Given the description of an element on the screen output the (x, y) to click on. 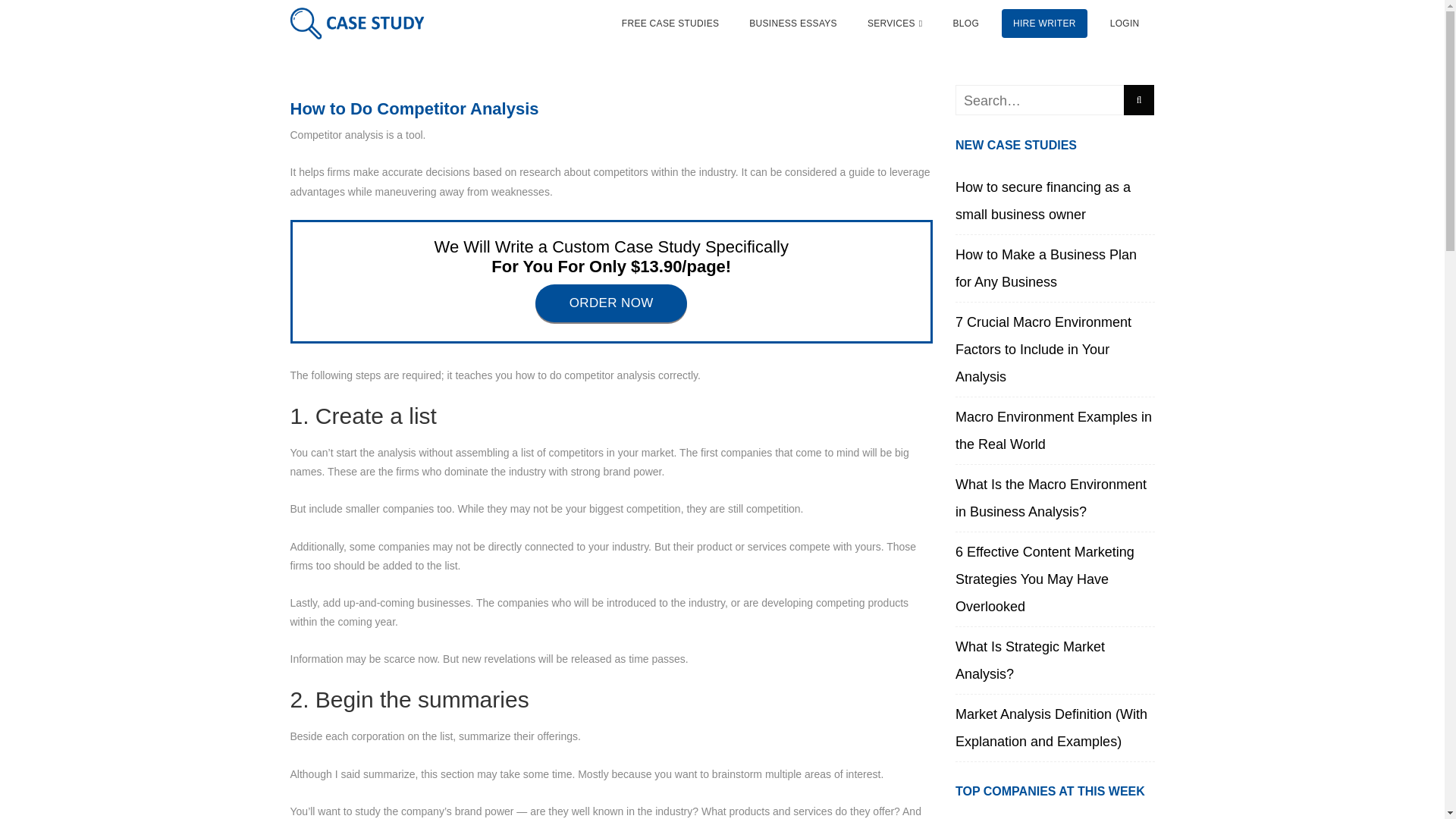
BUSINESS ESSAYS (793, 23)
SERVICES (895, 23)
BLOG (965, 23)
FREE CASE STUDIES (670, 23)
HIRE WRITER (1044, 23)
LOGIN (1124, 23)
